Given the description of an element on the screen output the (x, y) to click on. 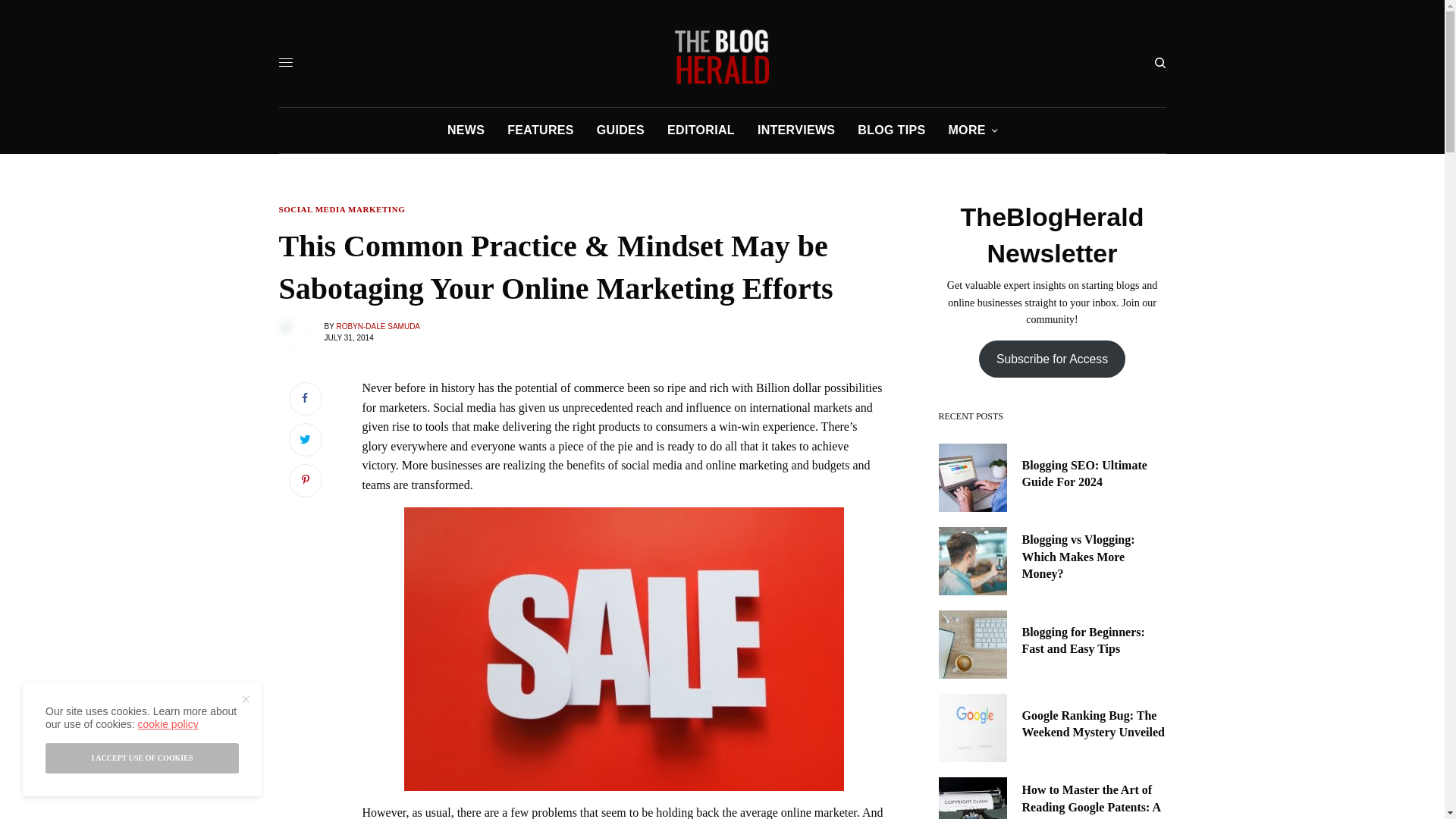
SOCIAL MEDIA MARKETING (342, 209)
Blogging SEO: Ultimate Guide For 2024 (1094, 474)
Posts by Robyn-Dale Samuda (378, 326)
Blogging for Beginners: Fast and Easy Tips (1094, 641)
EDITORIAL (700, 130)
FEATURES (539, 130)
MORE (972, 130)
GUIDES (620, 130)
INTERVIEWS (795, 130)
BLOG TIPS (890, 130)
ROBYN-DALE SAMUDA (378, 326)
The Blog Herald (722, 56)
Google Ranking Bug: The Weekend Mystery Unveiled (1094, 724)
Blogging vs Vlogging: Which Makes More Money? (1094, 556)
